Given the description of an element on the screen output the (x, y) to click on. 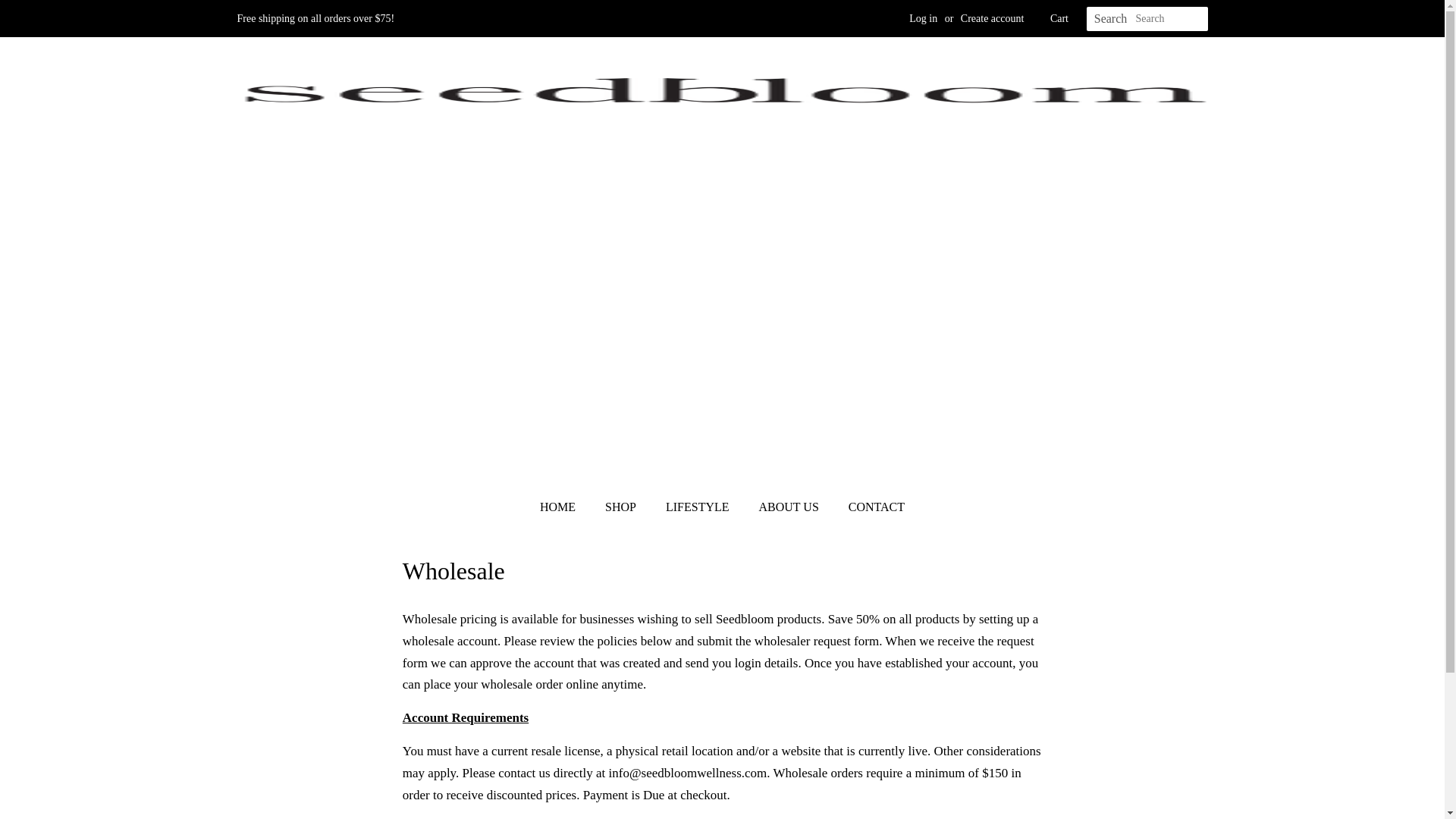
Cart (1058, 18)
Search (1110, 18)
Create account (992, 18)
LIFESTYLE (698, 506)
SHOP (622, 506)
HOME (565, 506)
Log in (922, 18)
